Given the description of an element on the screen output the (x, y) to click on. 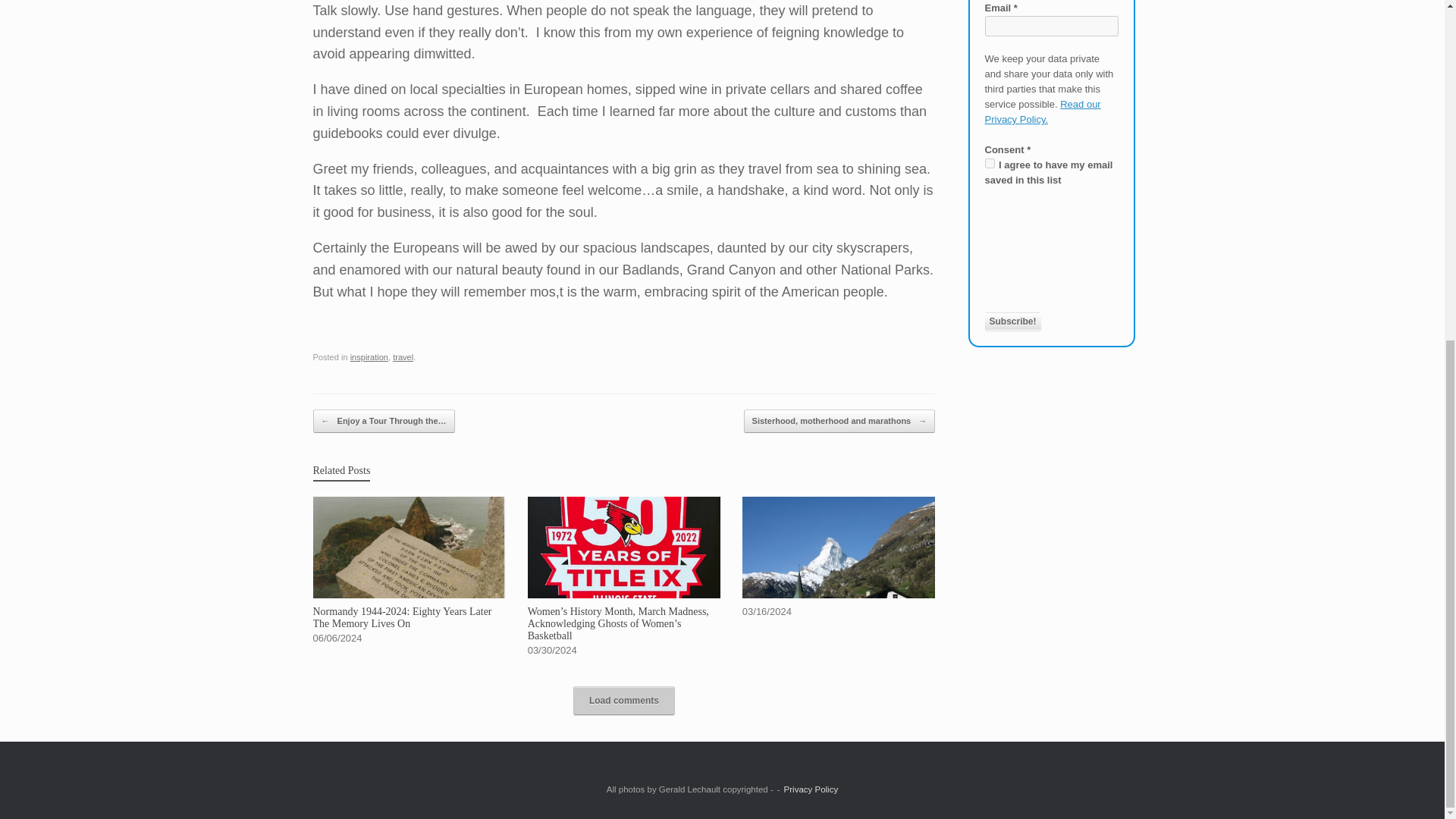
Normandy 1944-2024: Eighty Years Later The Memory Lives On (409, 569)
Subscribe! (1012, 321)
Read our Privacy Policy. (1042, 111)
Subscribe! (1012, 321)
inspiration (369, 356)
1 (989, 163)
Privacy Policy (811, 788)
reCAPTCHA (1046, 257)
Email (1051, 25)
travel (403, 356)
Load comments (624, 700)
